Given the description of an element on the screen output the (x, y) to click on. 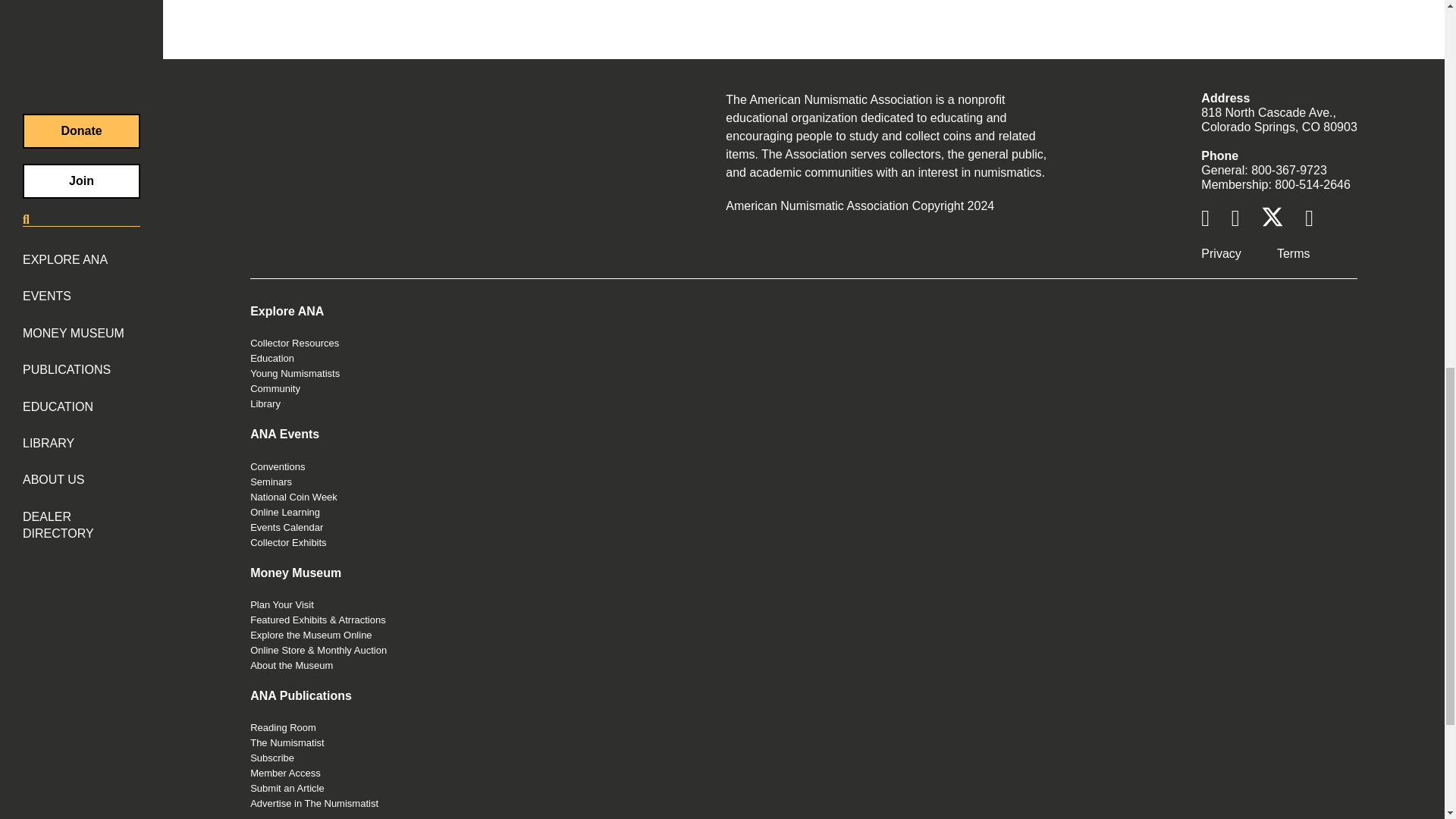
Privacy (1220, 253)
800-367-9723 (1288, 169)
Terms (1293, 253)
Collector Resources (294, 342)
800-514-2646 (1313, 184)
